Given the description of an element on the screen output the (x, y) to click on. 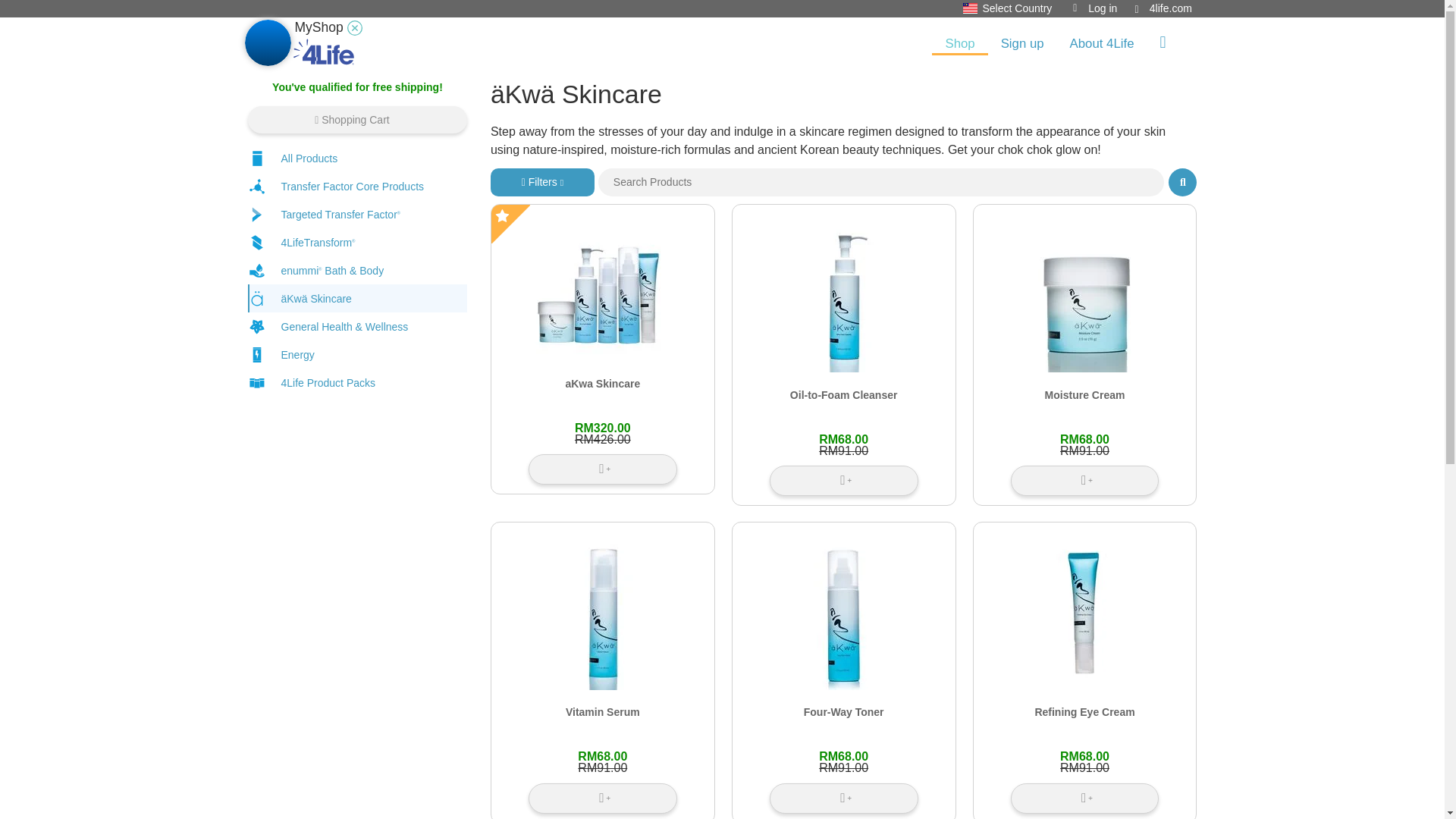
Log in (1095, 8)
Select Country (1010, 8)
4Life Product Packs (357, 382)
Energy (357, 354)
Shop (959, 44)
4life.com (1163, 8)
About 4Life (1102, 43)
Sign up (1022, 43)
Shopping Cart (357, 119)
Transfer Factor Core Products (357, 185)
